Given the description of an element on the screen output the (x, y) to click on. 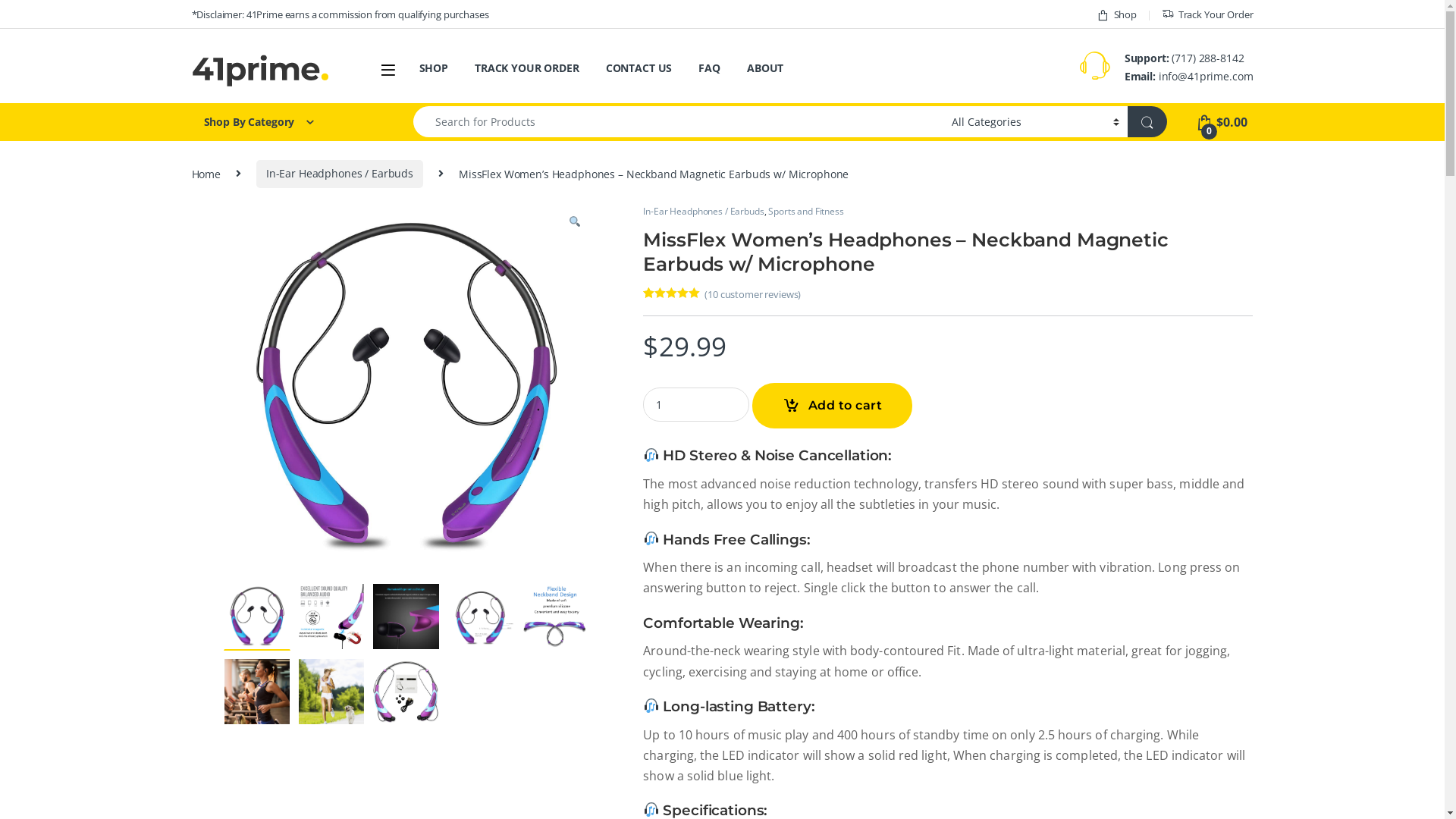
ABOUT Element type: text (764, 67)
Sports and Fitness Element type: text (805, 210)
CONTACT US Element type: text (638, 67)
Track Your Order Element type: text (1207, 14)
Shop By Category Element type: text (287, 122)
Shop Element type: text (1116, 14)
In-Ear Headphones / Earbuds Element type: text (339, 174)
FAQ Element type: text (709, 67)
Add to cart Element type: text (832, 405)
TRACK YOUR ORDER Element type: text (526, 67)
(10 customer reviews) Element type: text (752, 294)
Qty Element type: hover (696, 404)
SHOP Element type: text (432, 67)
Home Element type: text (205, 173)
In-Ear Headphones / Earbuds Element type: text (703, 210)
0
$0.00 Element type: text (1220, 121)
